Given the description of an element on the screen output the (x, y) to click on. 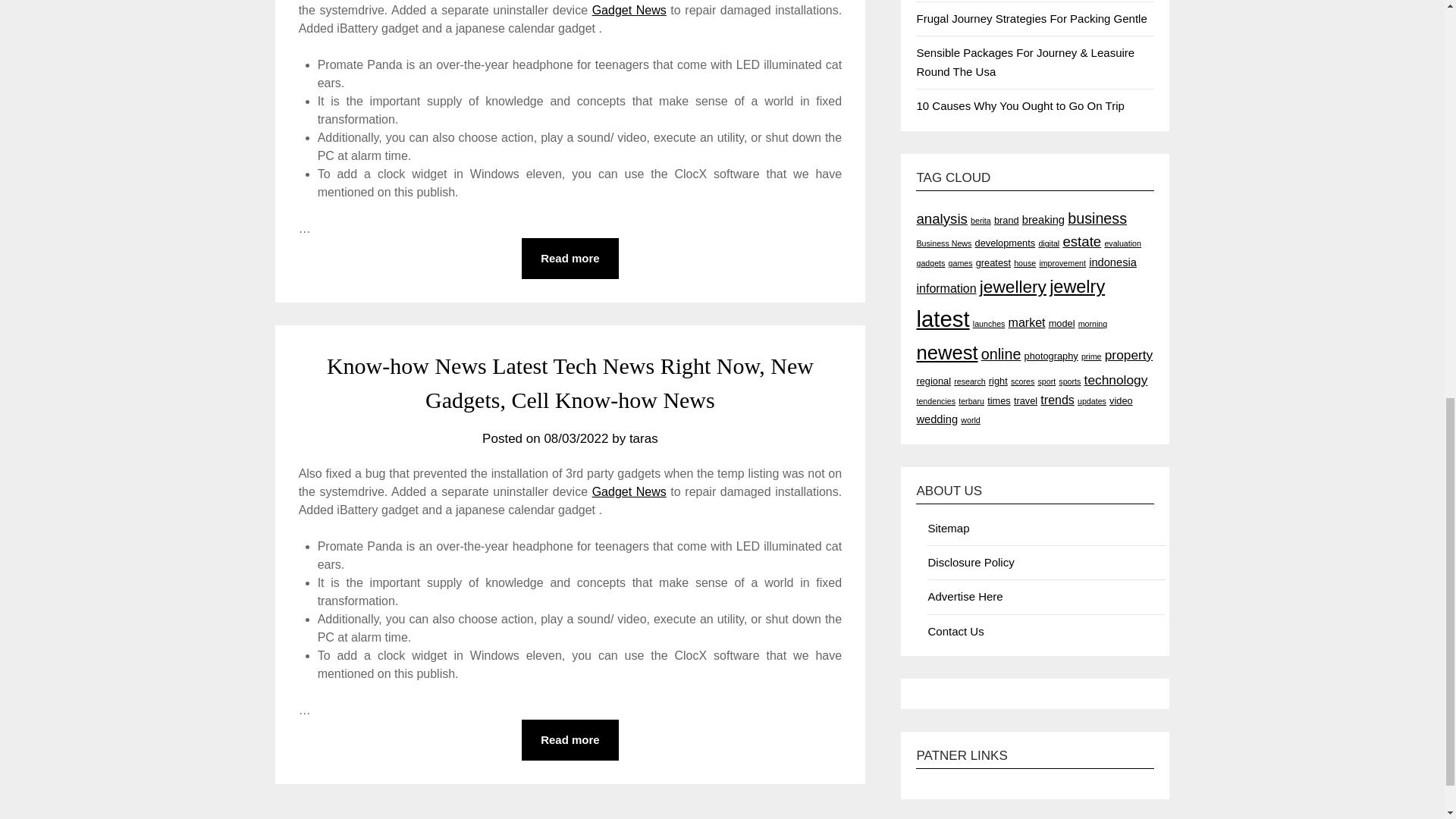
10 Causes Why You Ought to Go On Trip (1019, 105)
developments (1005, 242)
digital (1048, 243)
games (960, 262)
business (1096, 217)
berita (981, 220)
greatest (992, 262)
brand (1006, 220)
analysis (940, 218)
breaking (1043, 219)
gadgets (929, 262)
estate (1081, 241)
improvement (1062, 262)
taras (643, 438)
evaluation (1122, 243)
